Given the description of an element on the screen output the (x, y) to click on. 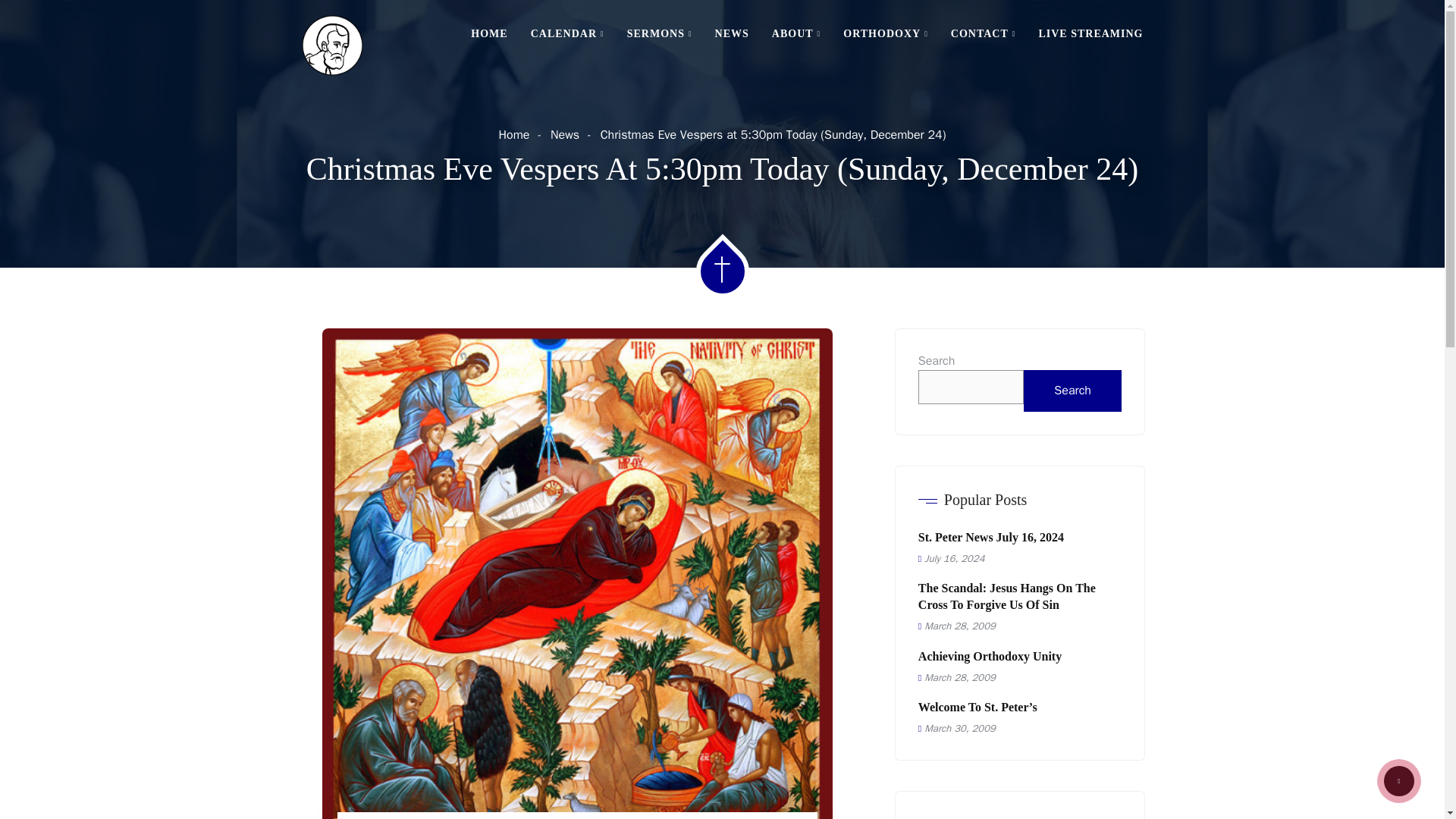
SERMONS (659, 33)
St. Peter Orthodox Church (332, 41)
St. Peter Orthodox Church (332, 45)
CALENDAR (567, 33)
HOME (494, 33)
